Given the description of an element on the screen output the (x, y) to click on. 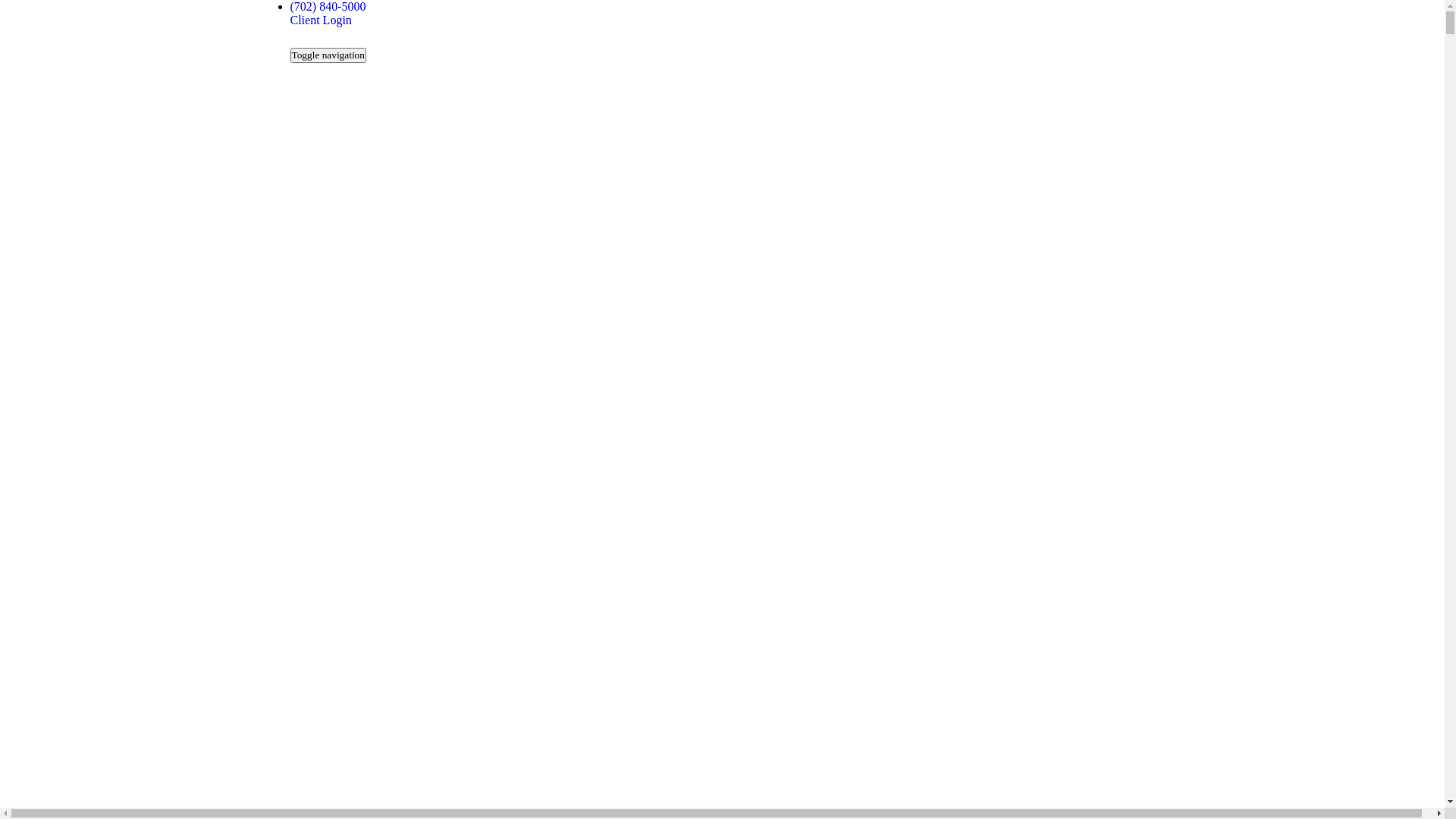
Toggle navigation Element type: text (327, 54)
Client Login Element type: text (320, 19)
(702) 840-5000 Element type: text (327, 6)
